Given the description of an element on the screen output the (x, y) to click on. 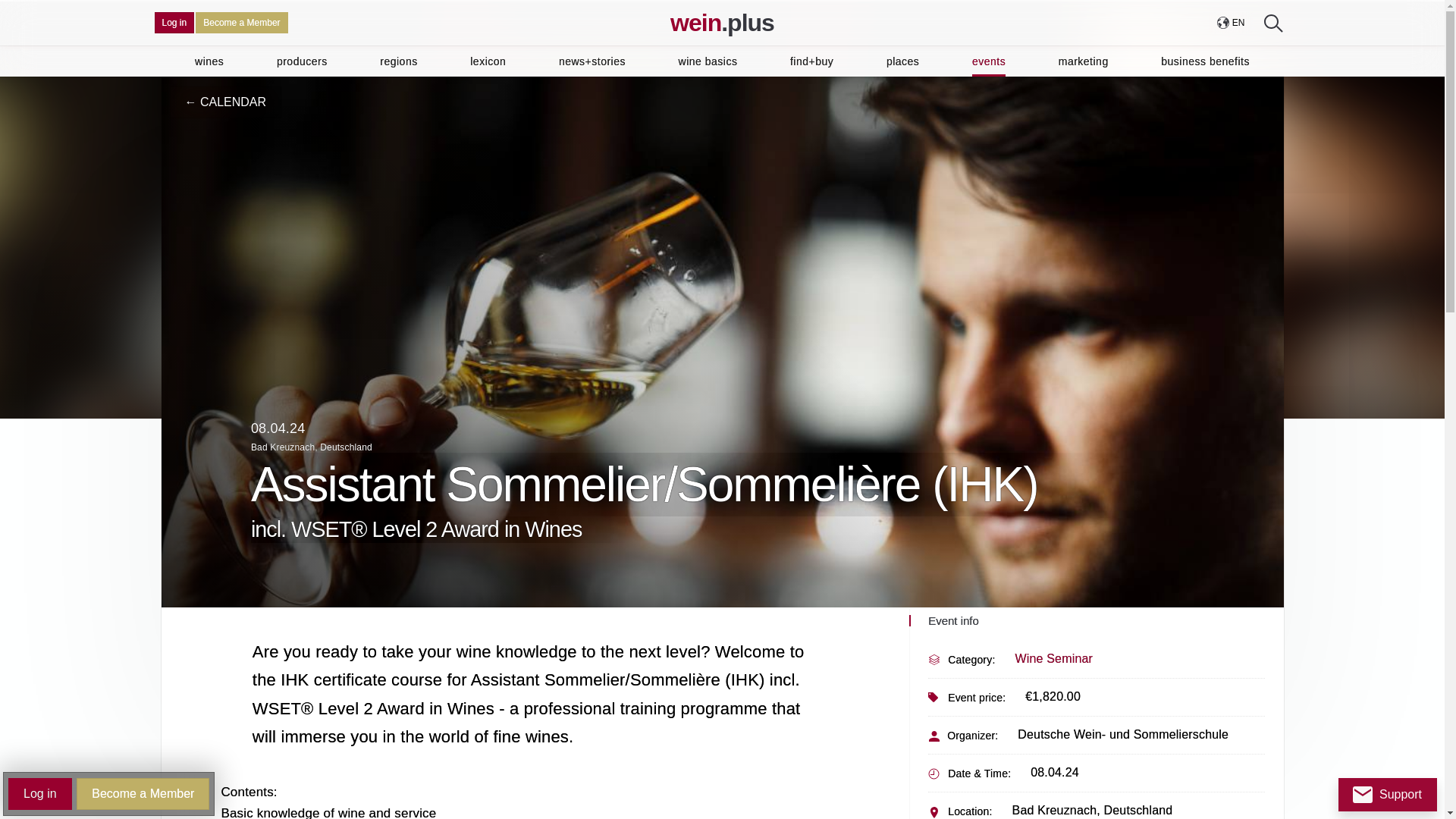
EN (1230, 22)
Become a Member (240, 22)
wines (209, 60)
Log in (174, 22)
English Language (1237, 22)
lexicon (487, 60)
events (989, 60)
producers (301, 60)
Country (1230, 22)
wein.plus (721, 22)
